Given the description of an element on the screen output the (x, y) to click on. 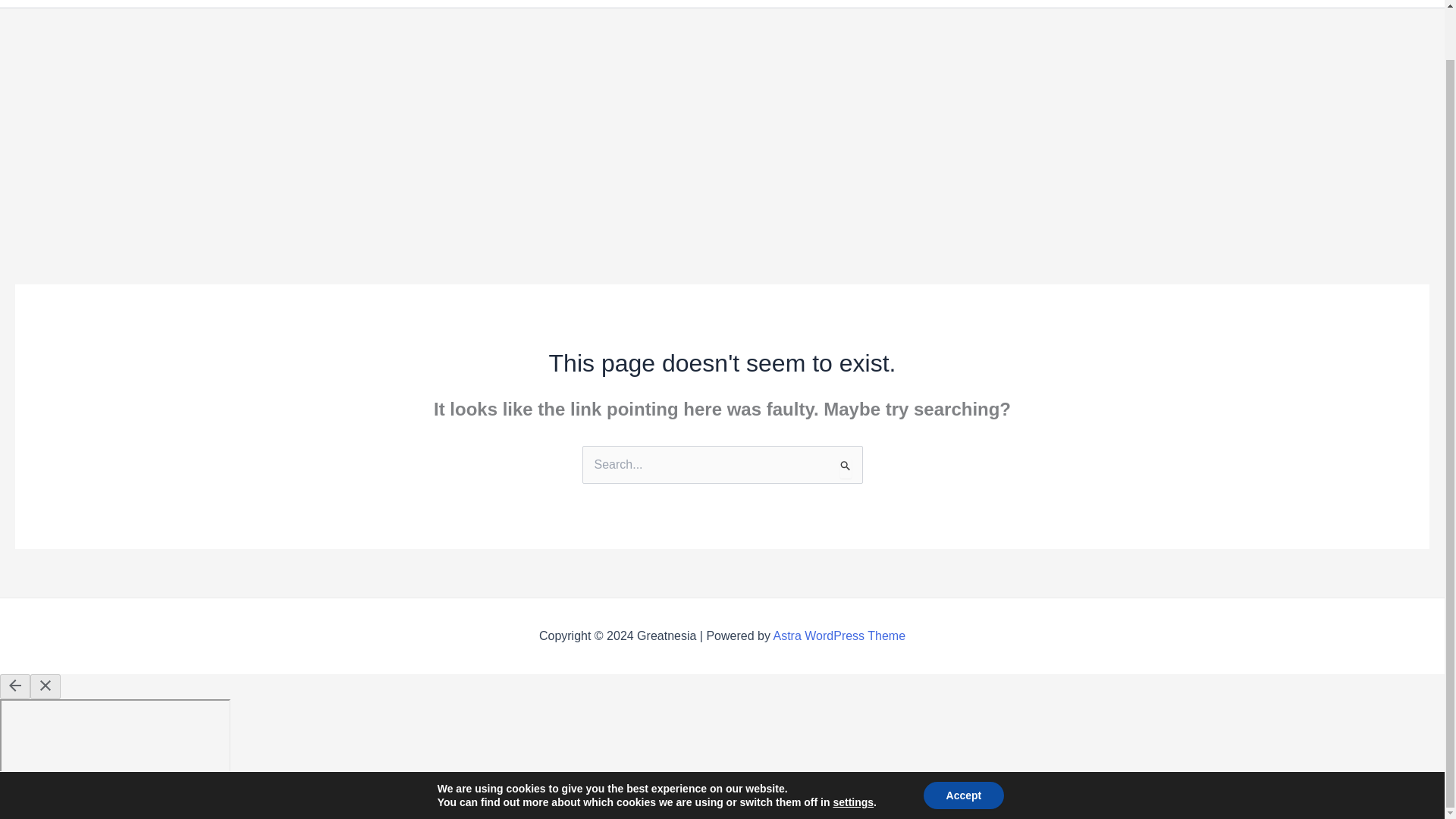
settings (852, 748)
Contact (924, 3)
Cookie Policy (1007, 3)
DMCA Notice (1185, 3)
Terms of Use (1381, 3)
Accept (963, 741)
About (863, 3)
Astra WordPress Theme (839, 635)
Privacy Policy (1283, 3)
Disclaimer (1096, 3)
